Given the description of an element on the screen output the (x, y) to click on. 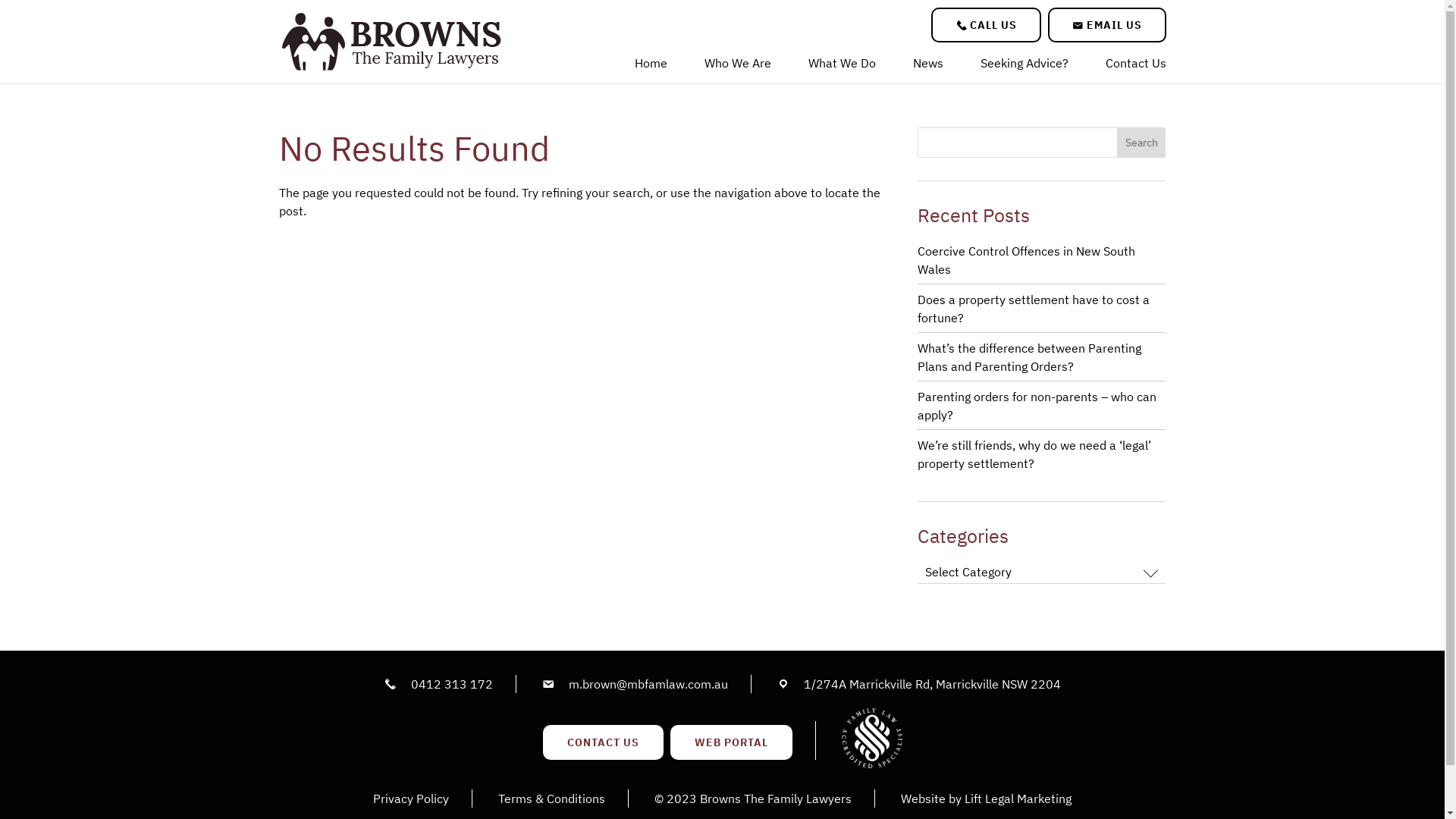
Contact Us Element type: text (1135, 66)
News Element type: text (928, 66)
m.brown@mbfamlaw.com.au Element type: text (648, 683)
CONTACT US Element type: text (602, 741)
Search Element type: text (1141, 142)
EMAIL US Element type: text (1107, 24)
CALL US Element type: text (986, 24)
Terms & Conditions Element type: text (551, 798)
Privacy Policy Element type: text (410, 798)
Coercive Control Offences in New South Wales Element type: text (1026, 259)
Does a property settlement have to cost a fortune? Element type: text (1033, 308)
Home Element type: text (649, 66)
Lift Legal Marketing Element type: text (1017, 798)
Who We Are Element type: text (736, 66)
Seeking Advice? Element type: text (1023, 66)
What We Do Element type: text (841, 66)
WEB PORTAL Element type: text (731, 741)
0412 313 172 Element type: text (451, 683)
